Given the description of an element on the screen output the (x, y) to click on. 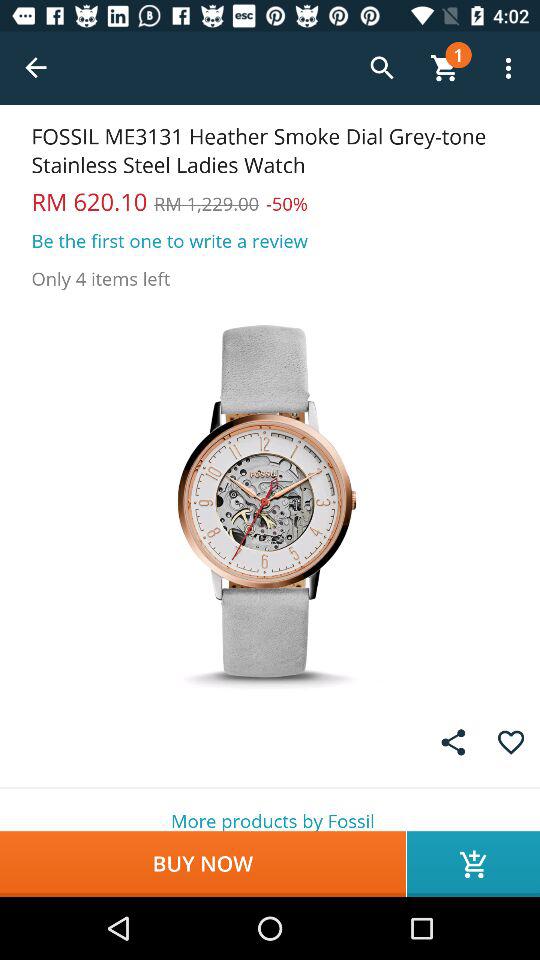
scroll to the be the first item (169, 240)
